Given the description of an element on the screen output the (x, y) to click on. 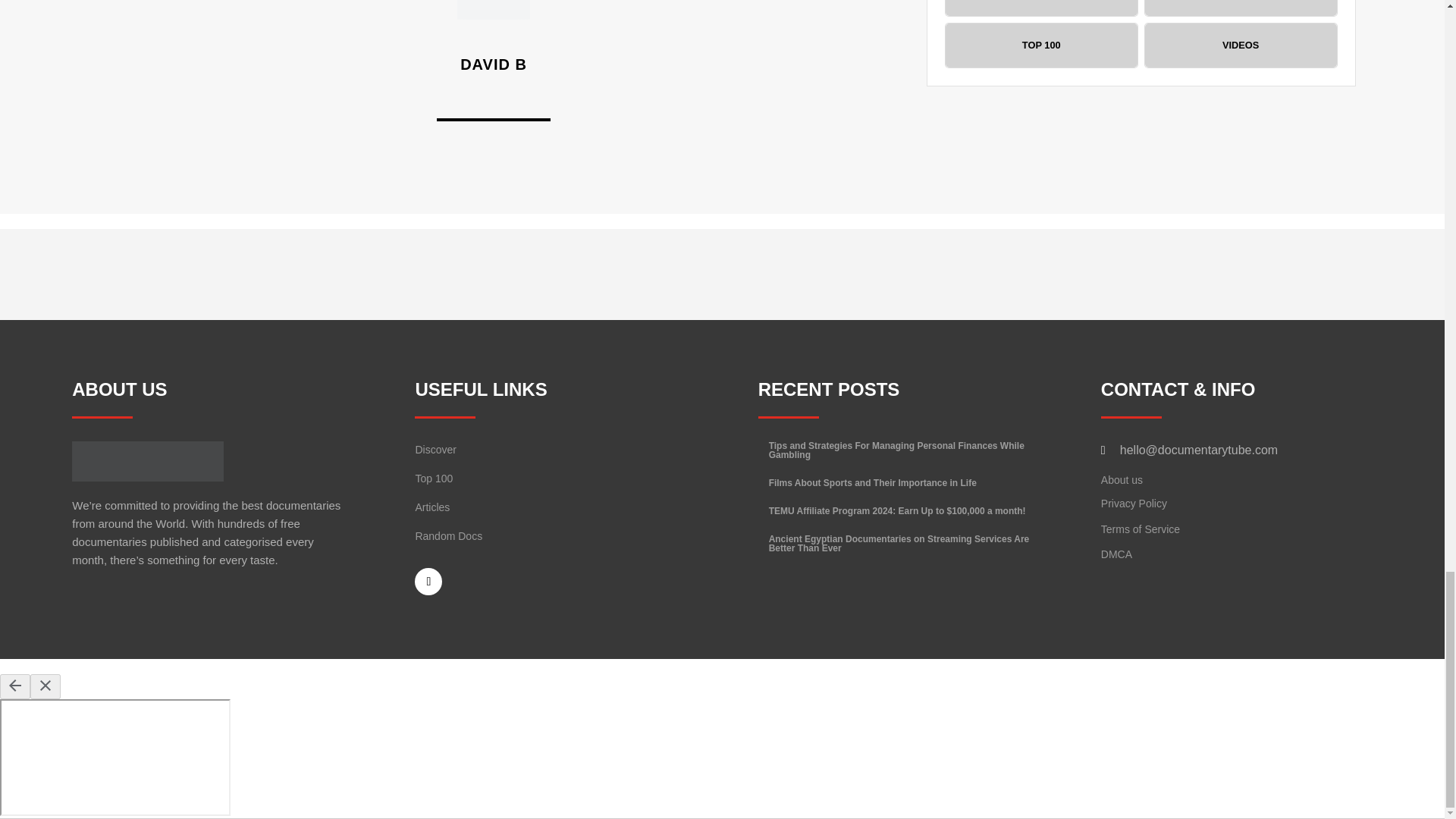
Follow on Facebook (428, 581)
dc-removebg-preview (147, 461)
